Given the description of an element on the screen output the (x, y) to click on. 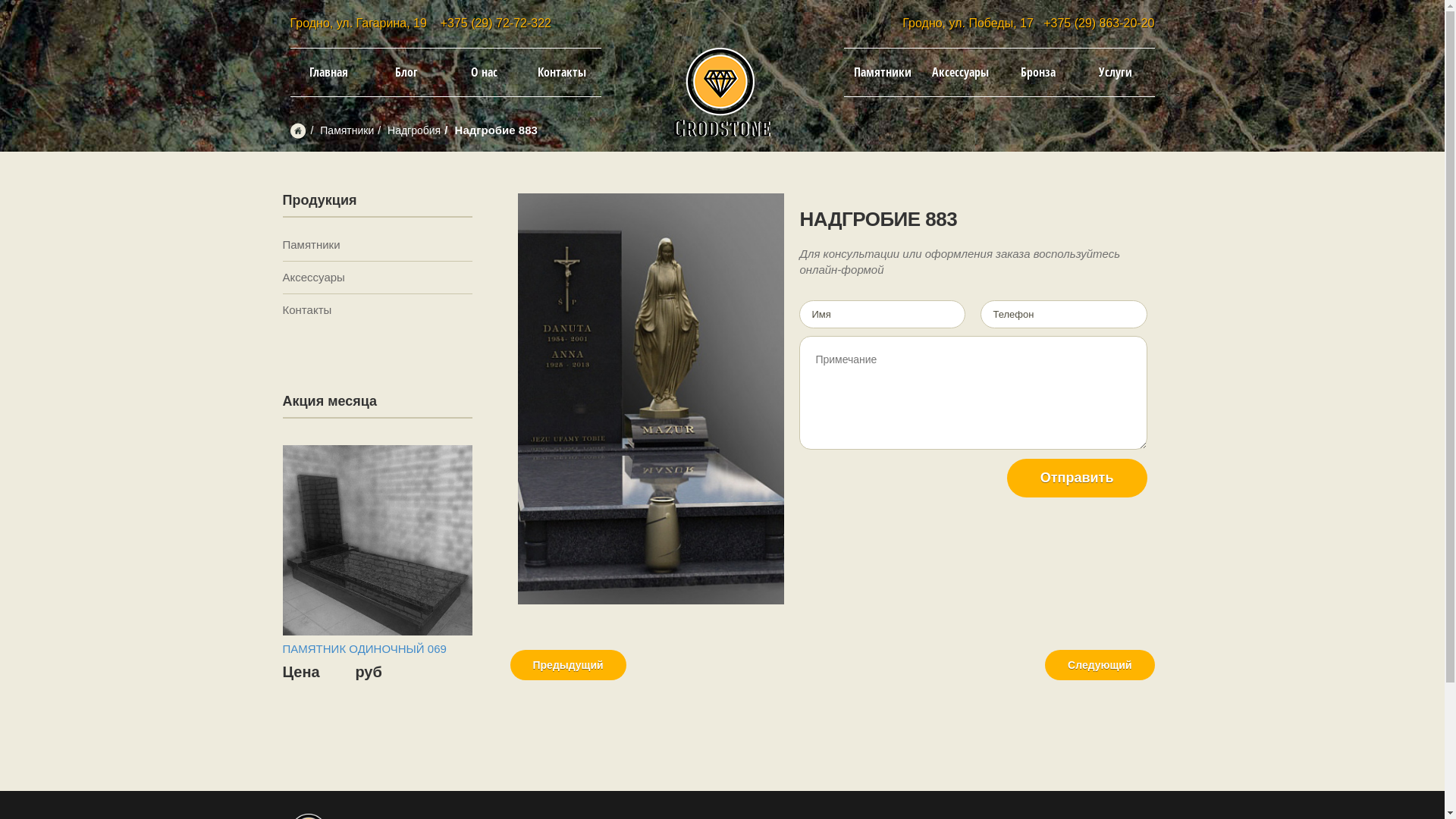
+375 (29) 863-20-20 Element type: text (1098, 22)
+375 (29) 72-72-322 Element type: text (495, 22)
